Given the description of an element on the screen output the (x, y) to click on. 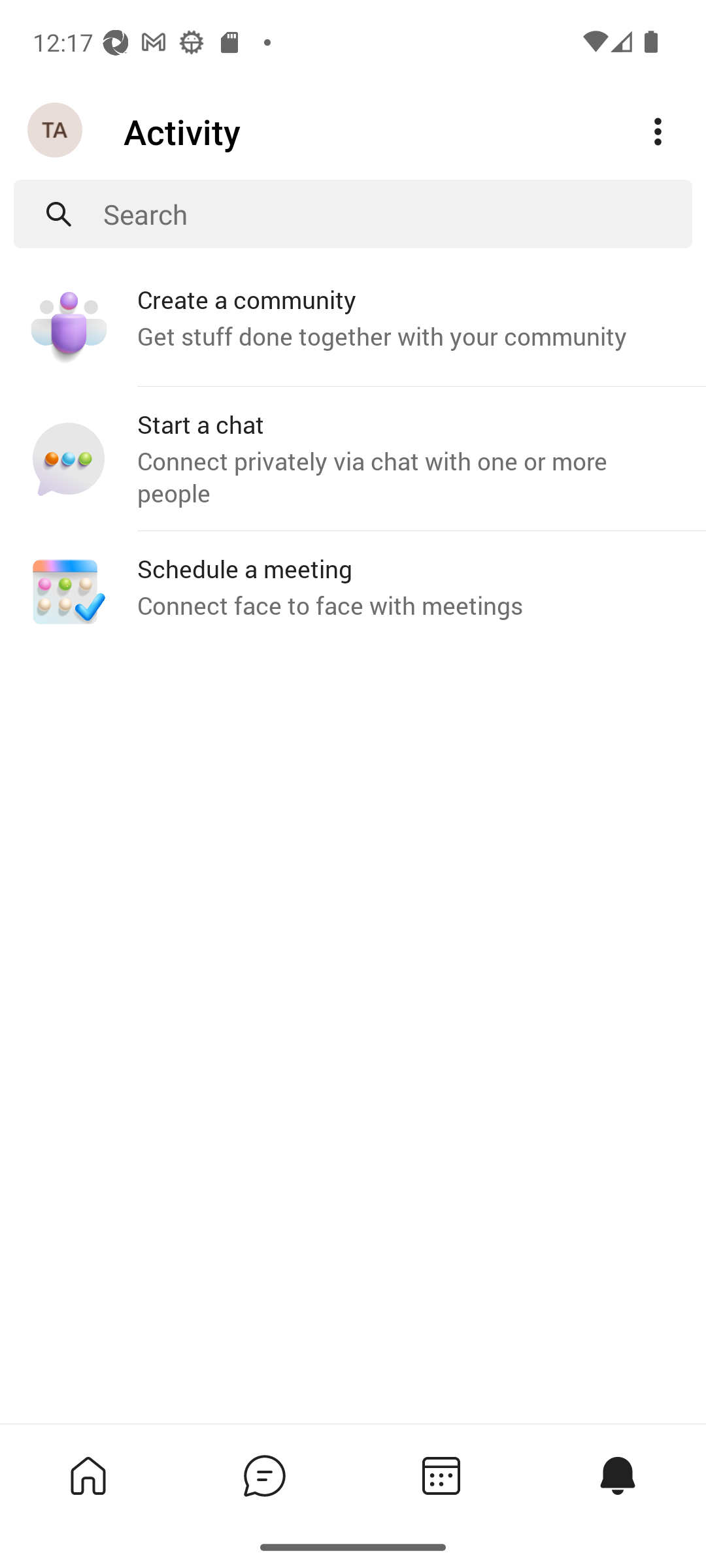
More options (657, 131)
Navigation (56, 130)
Search (397, 213)
Home tab,1 of 4, not selected (88, 1475)
Chat tab,2 of 4, not selected (264, 1475)
Calendar tab,3 of 4, not selected (441, 1475)
Activity tab,4 of 4, selected (617, 1475)
